Given the description of an element on the screen output the (x, y) to click on. 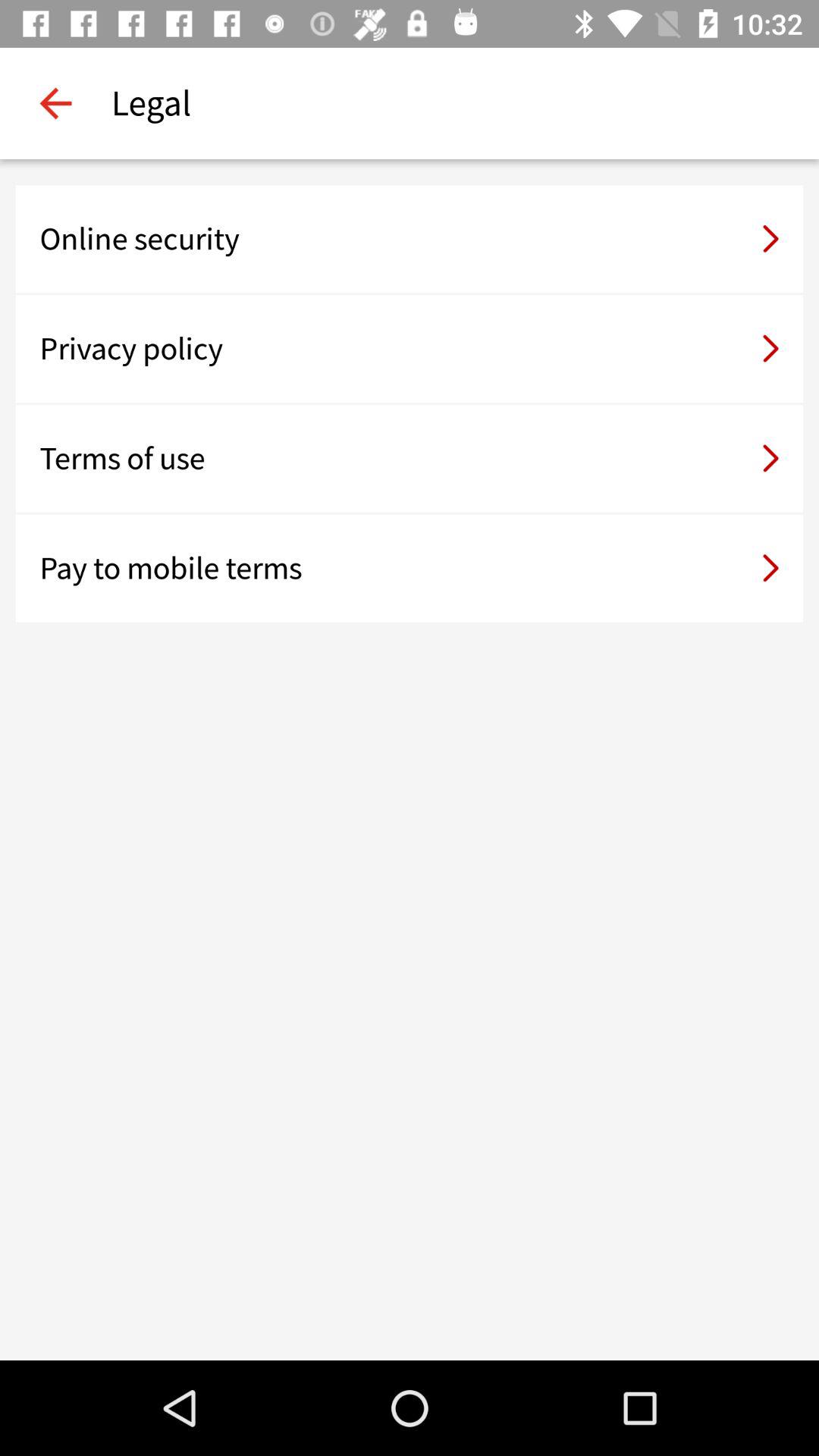
open pay to mobile at the center (409, 568)
